Given the description of an element on the screen output the (x, y) to click on. 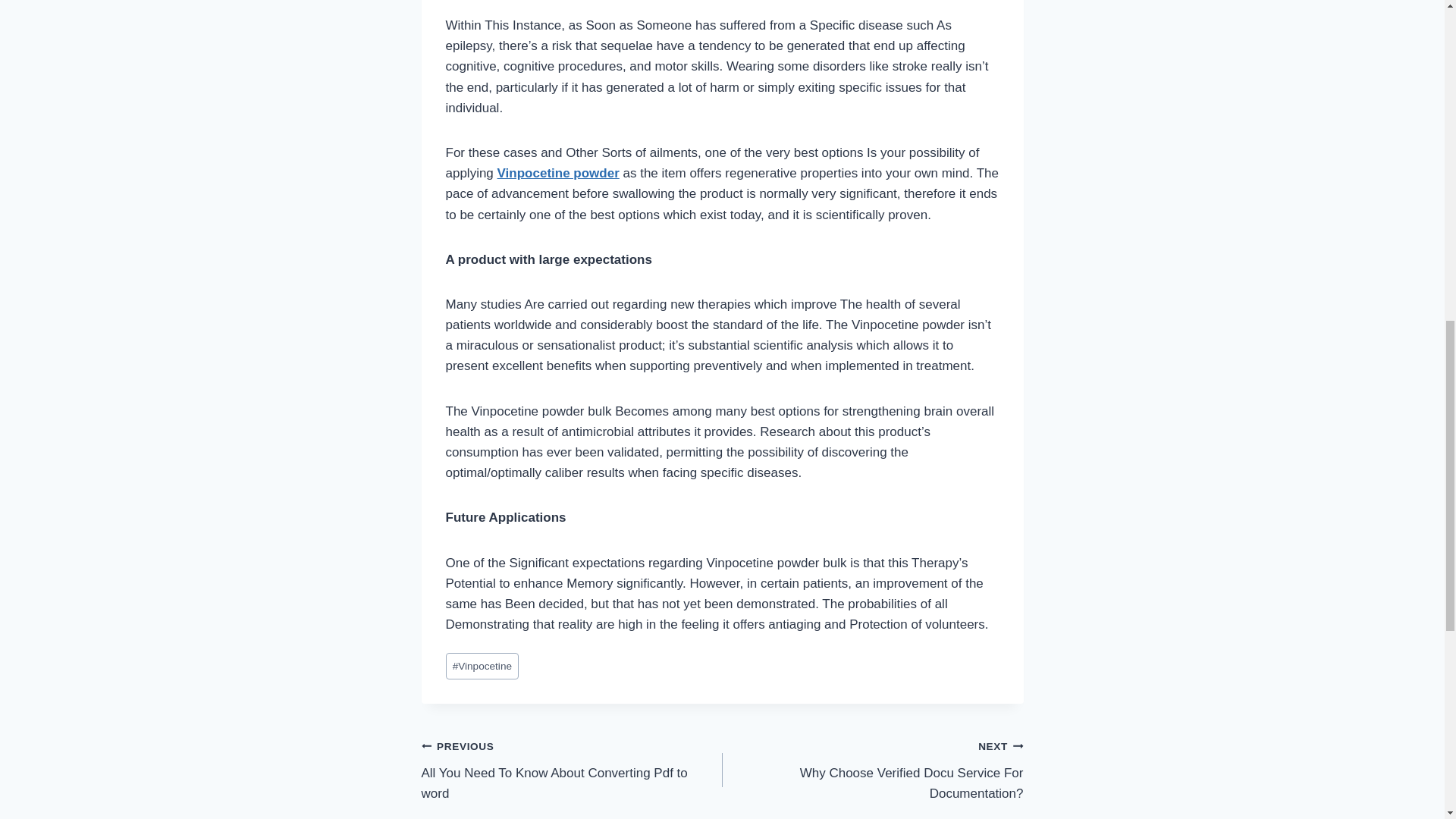
Vinpocetine powder (872, 769)
Vinpocetine (558, 173)
